Given the description of an element on the screen output the (x, y) to click on. 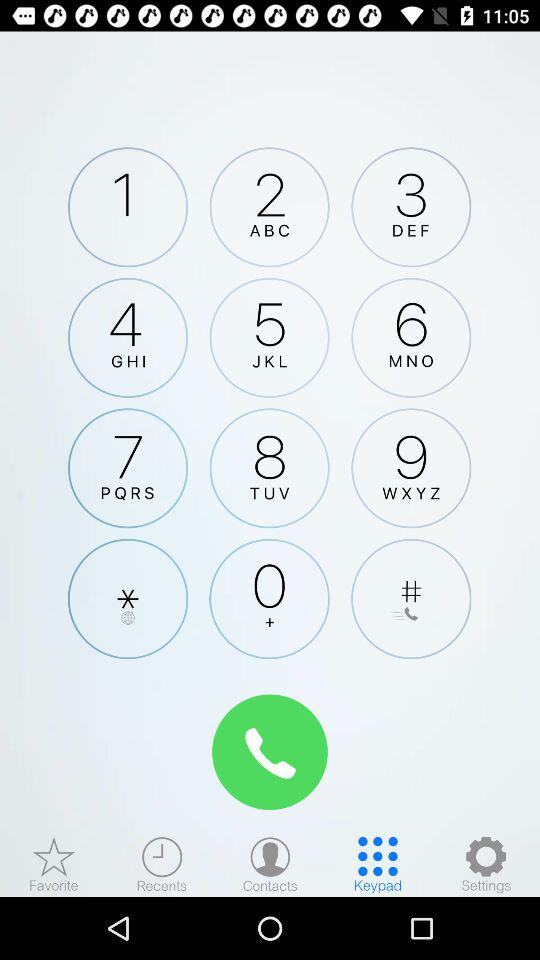
0 button or sign (269, 598)
